Given the description of an element on the screen output the (x, y) to click on. 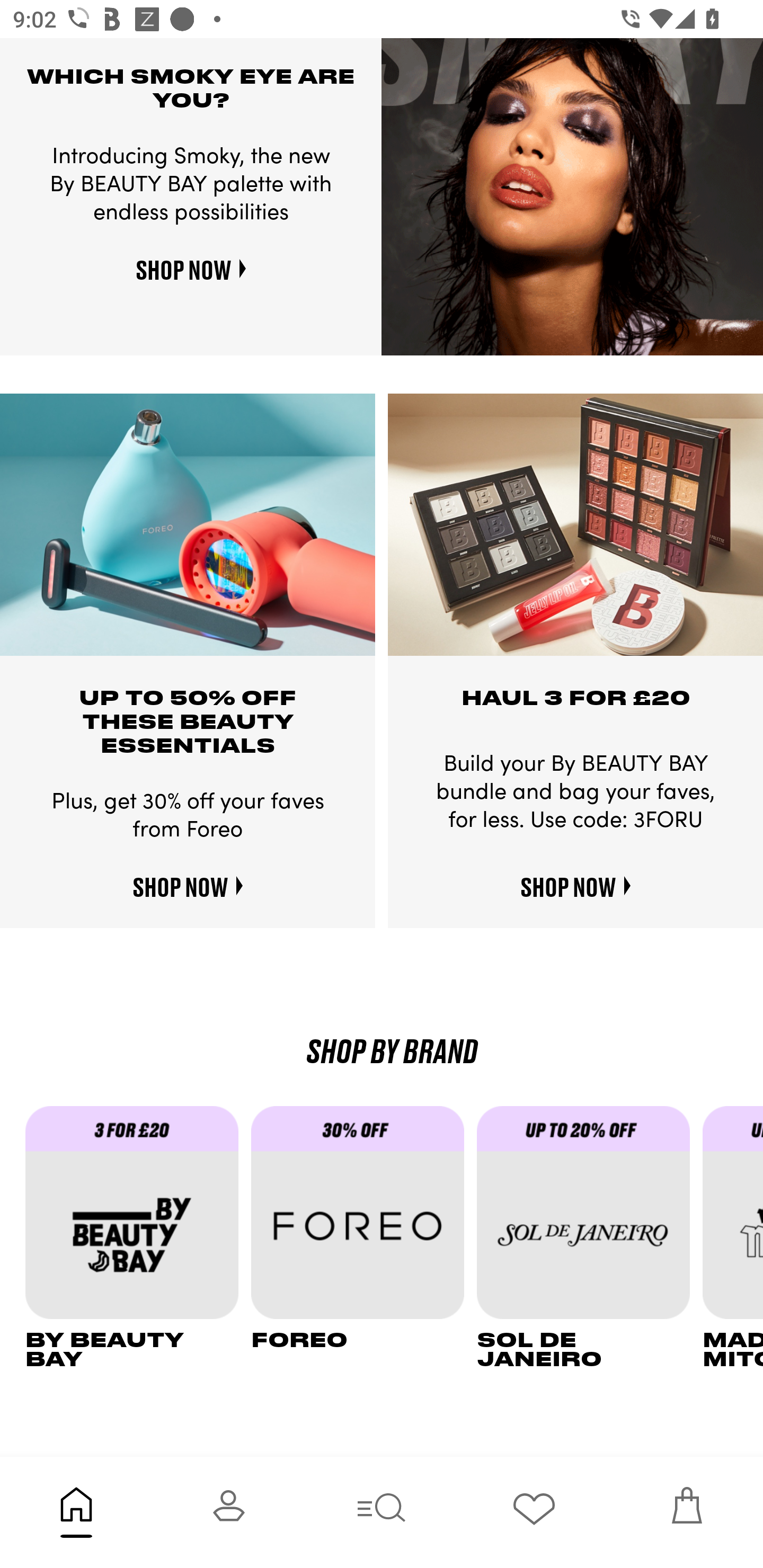
BY BEAUTY BAY (138, 1237)
FOREO (363, 1237)
SOL DE JANEIRO (589, 1237)
